Given the description of an element on the screen output the (x, y) to click on. 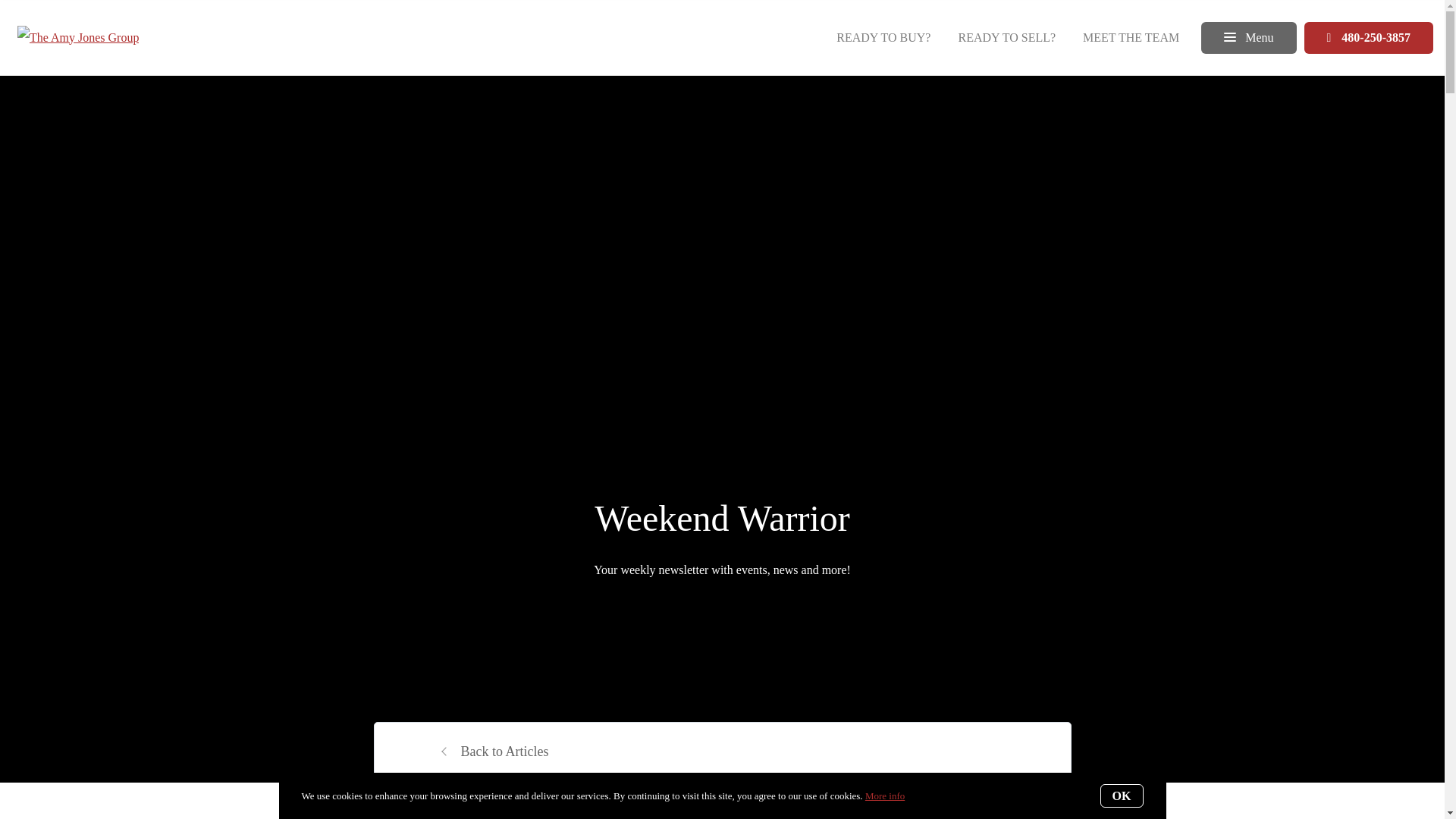
MEET THE TEAM (1131, 37)
480-250-3857 (1369, 37)
Menu (1248, 37)
READY TO SELL? (1006, 37)
READY TO BUY? (883, 37)
Back to Articles (493, 751)
